Given the description of an element on the screen output the (x, y) to click on. 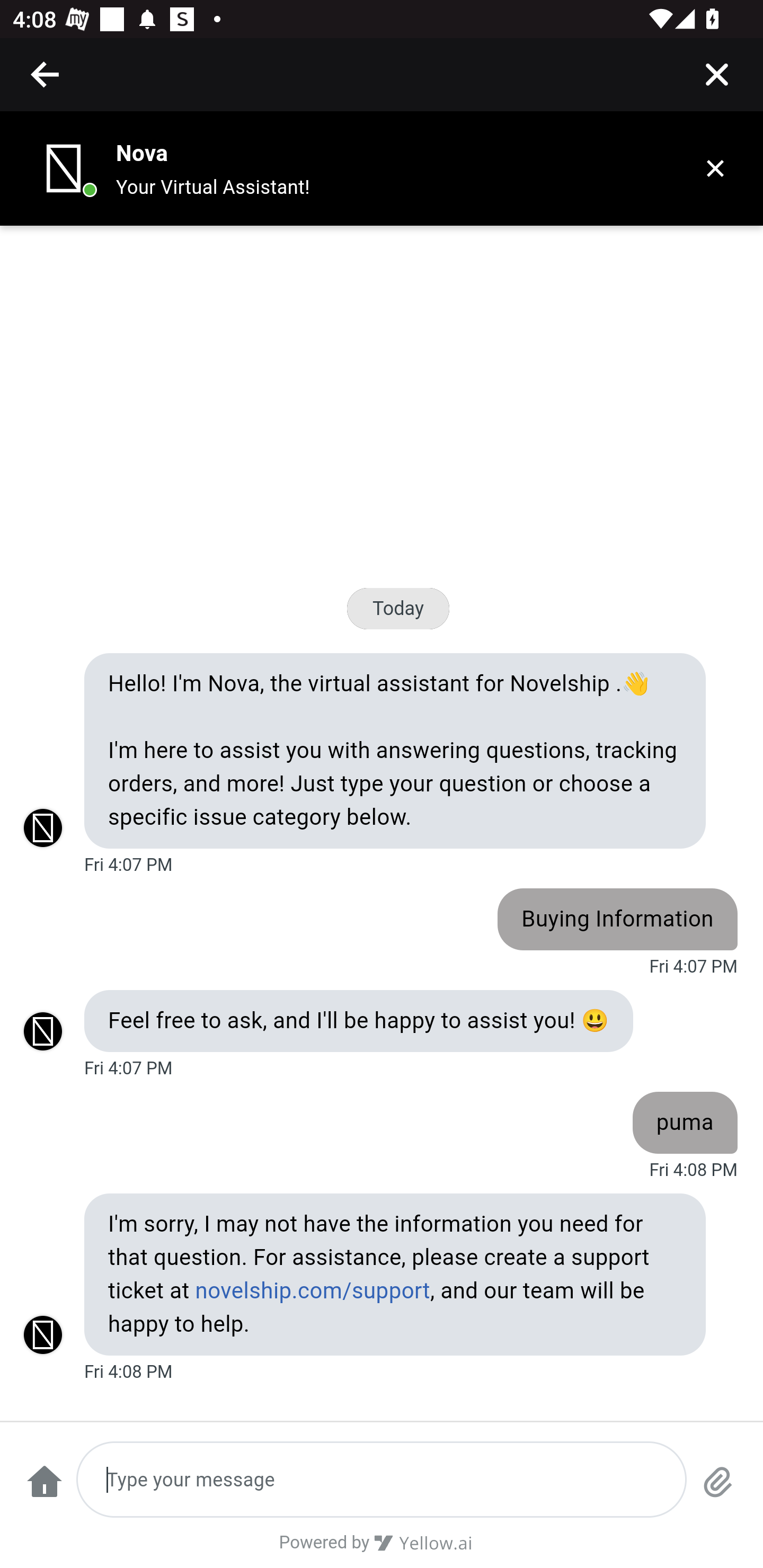
 (46, 74)
 (716, 74)
Nova bot icon (63, 168)
close bot (715, 168)
restart conversation (44, 1489)
upload file (718, 1489)
Powered by (381, 1549)
